Given the description of an element on the screen output the (x, y) to click on. 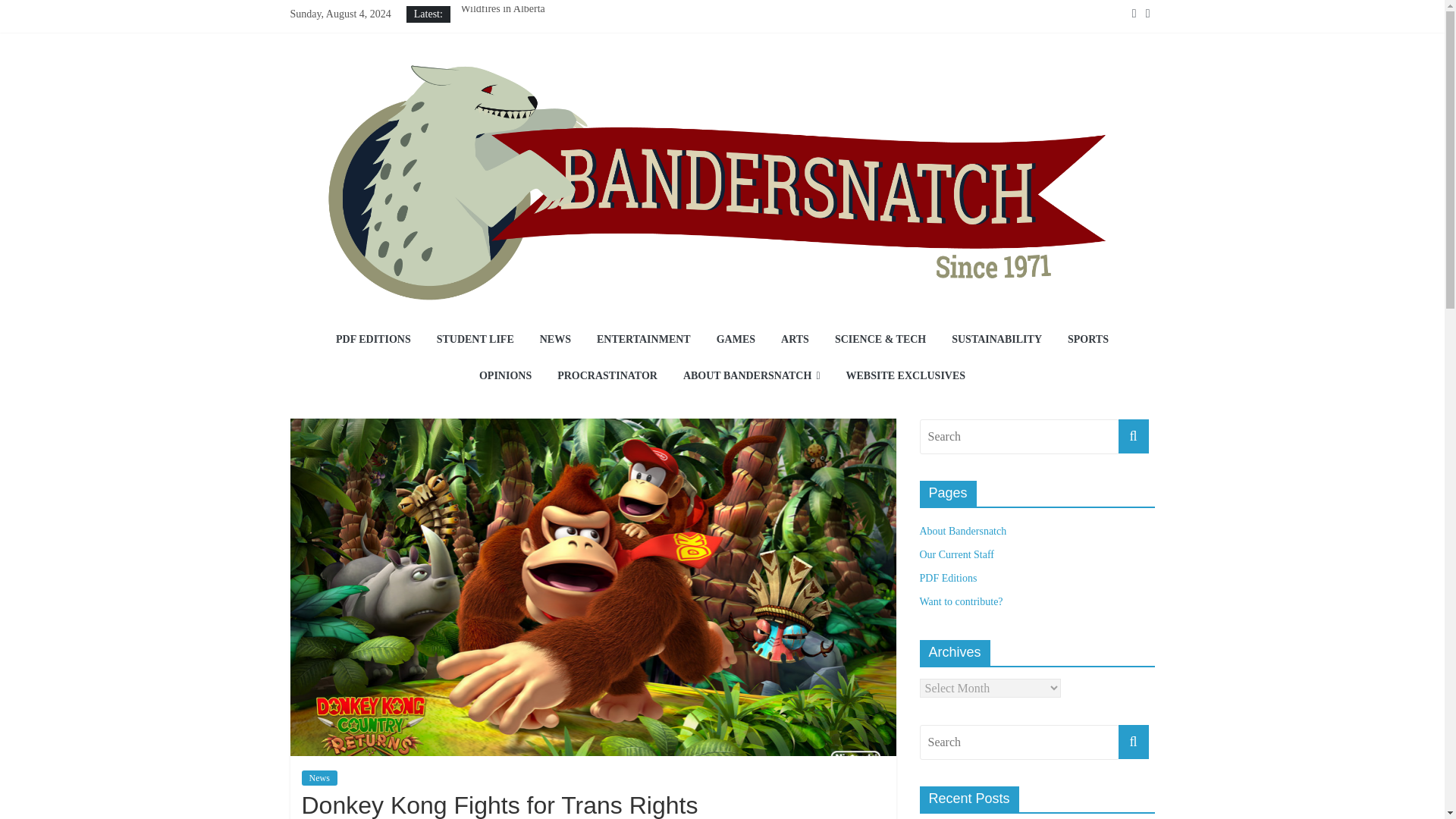
GAMES (735, 340)
WEBSITE EXCLUSIVES (905, 376)
About Bandersnatch (962, 531)
Sunset (473, 75)
Wildfires in Alberta (502, 8)
ABOUT BANDERSNATCH (751, 376)
Lilypads (478, 59)
PROCRASTINATOR (607, 376)
Wildfires in Alberta (502, 8)
SUSTAINABILITY (996, 340)
